Given the description of an element on the screen output the (x, y) to click on. 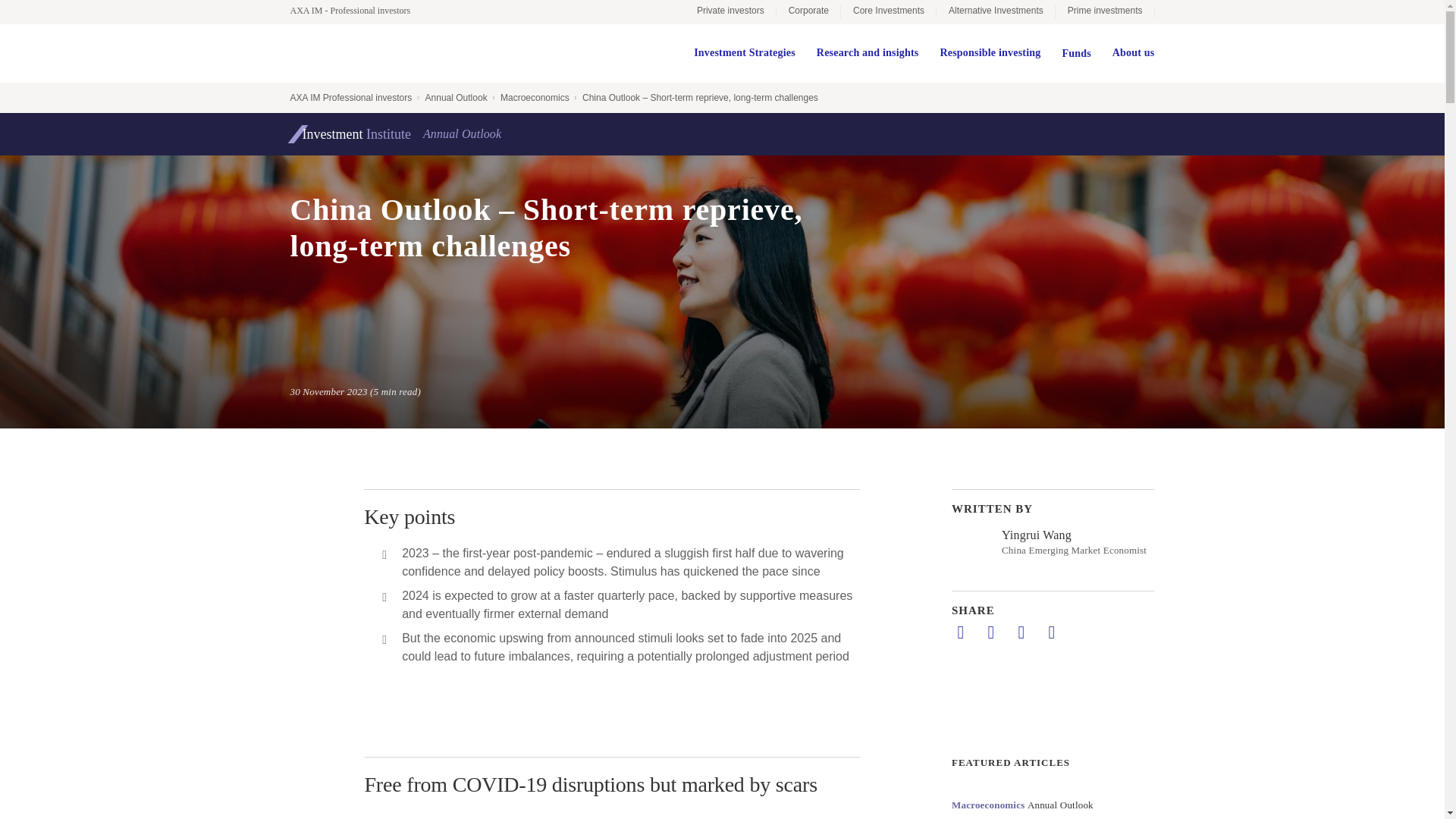
Research and insights (867, 53)
Private investors (730, 12)
AXA IM - Professional investors, Home (357, 10)
Copy URL (1051, 632)
Shared by mail (1020, 632)
Investment Strategies (744, 53)
Corporate (808, 12)
AXA IM - Professional investors (357, 10)
Share on twitter (990, 632)
Share on LinkedIn (960, 632)
